Given the description of an element on the screen output the (x, y) to click on. 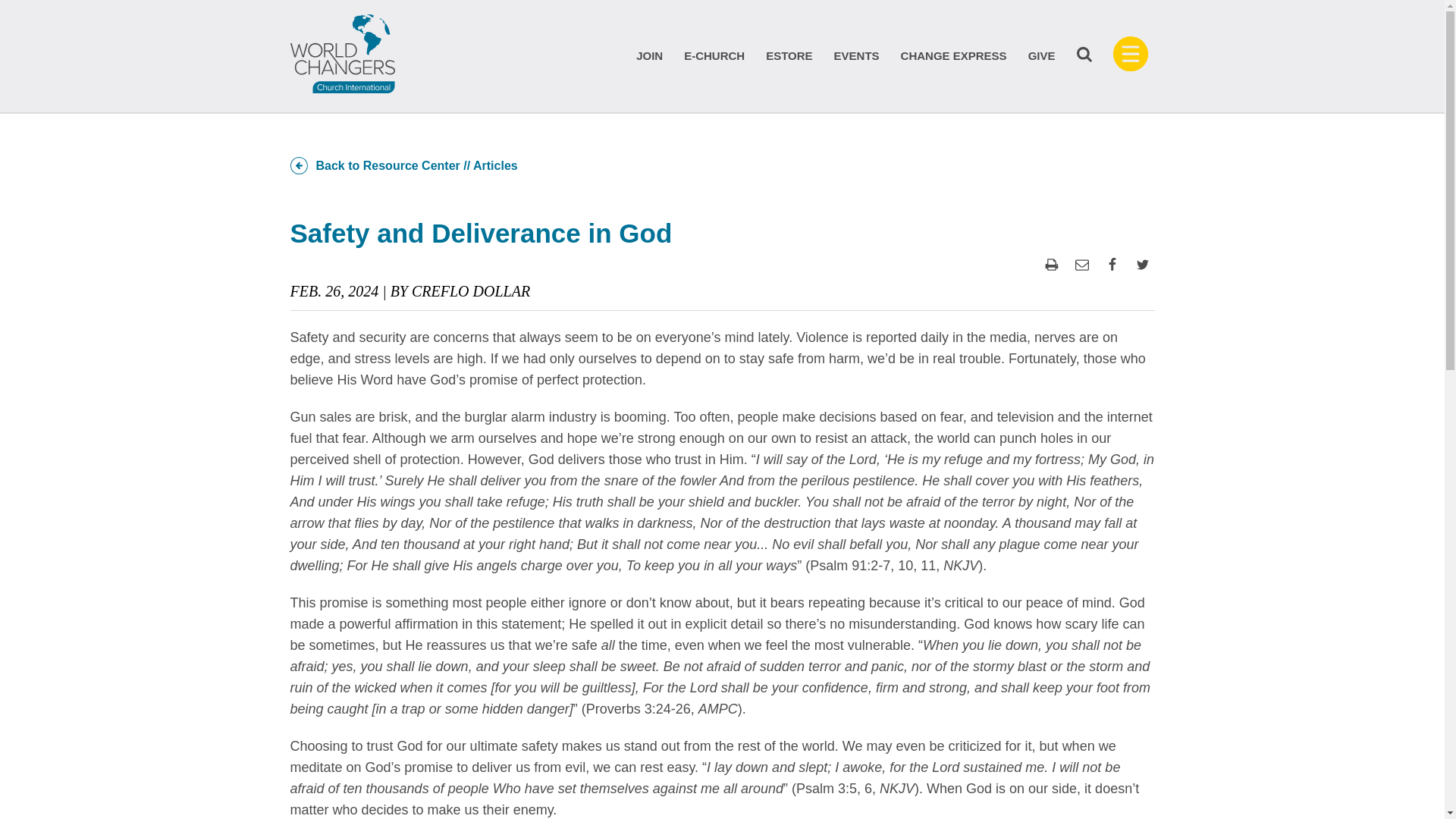
World Changers Church International Events (856, 55)
CYW eStore (788, 55)
E-CHURCH (714, 55)
JOIN (649, 55)
Search (1084, 57)
GIVE (1041, 55)
Print the article (1050, 263)
CHANGE EXPRESS (954, 55)
EVENTS (856, 55)
Join World Changers Church International  (649, 55)
Share the page via email (1080, 263)
Change Express (954, 55)
Share on Twitter (1141, 263)
World Changers Church International Homepage (341, 53)
View more (1130, 67)
